Given the description of an element on the screen output the (x, y) to click on. 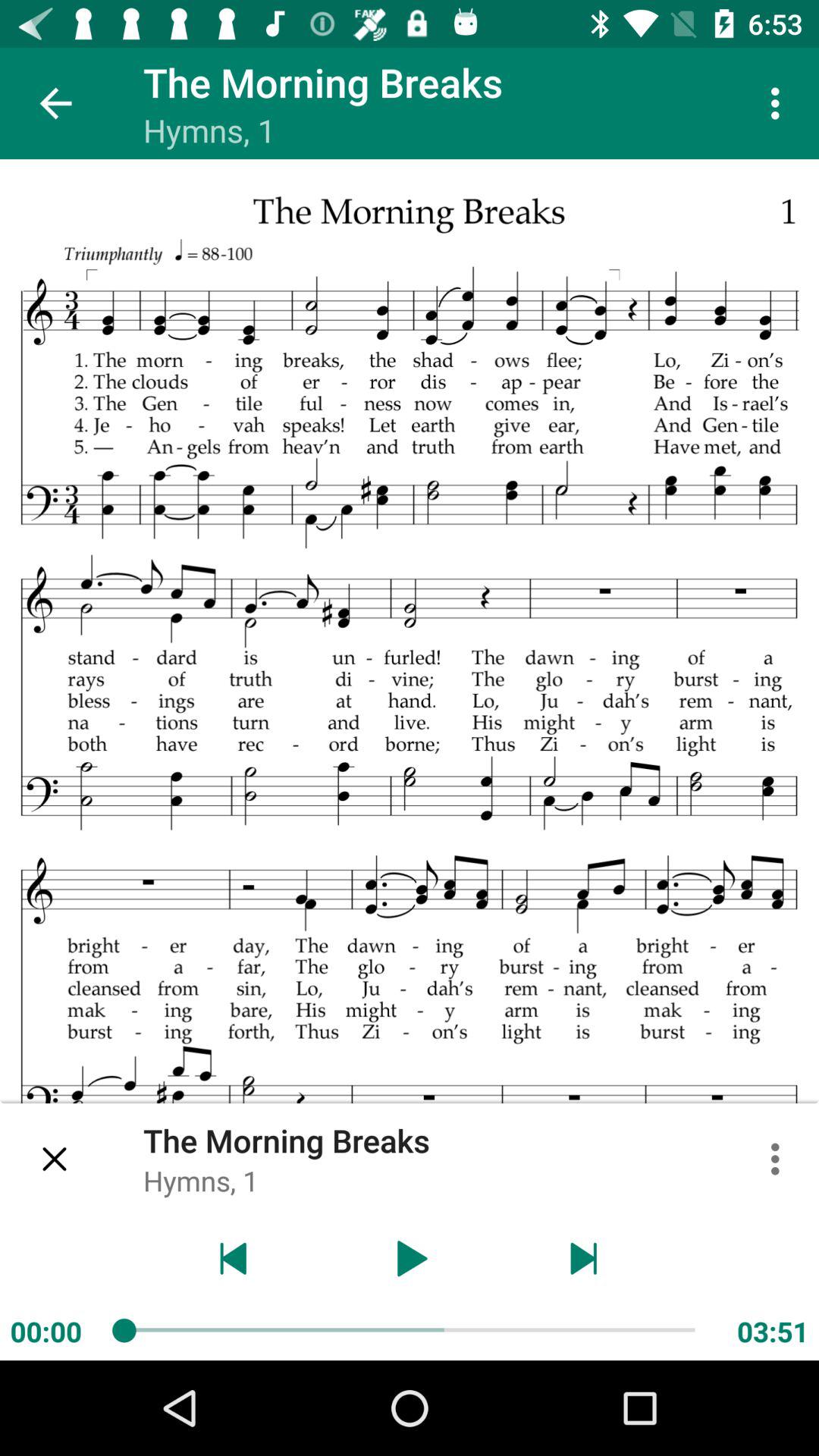
play button (409, 1258)
